Given the description of an element on the screen output the (x, y) to click on. 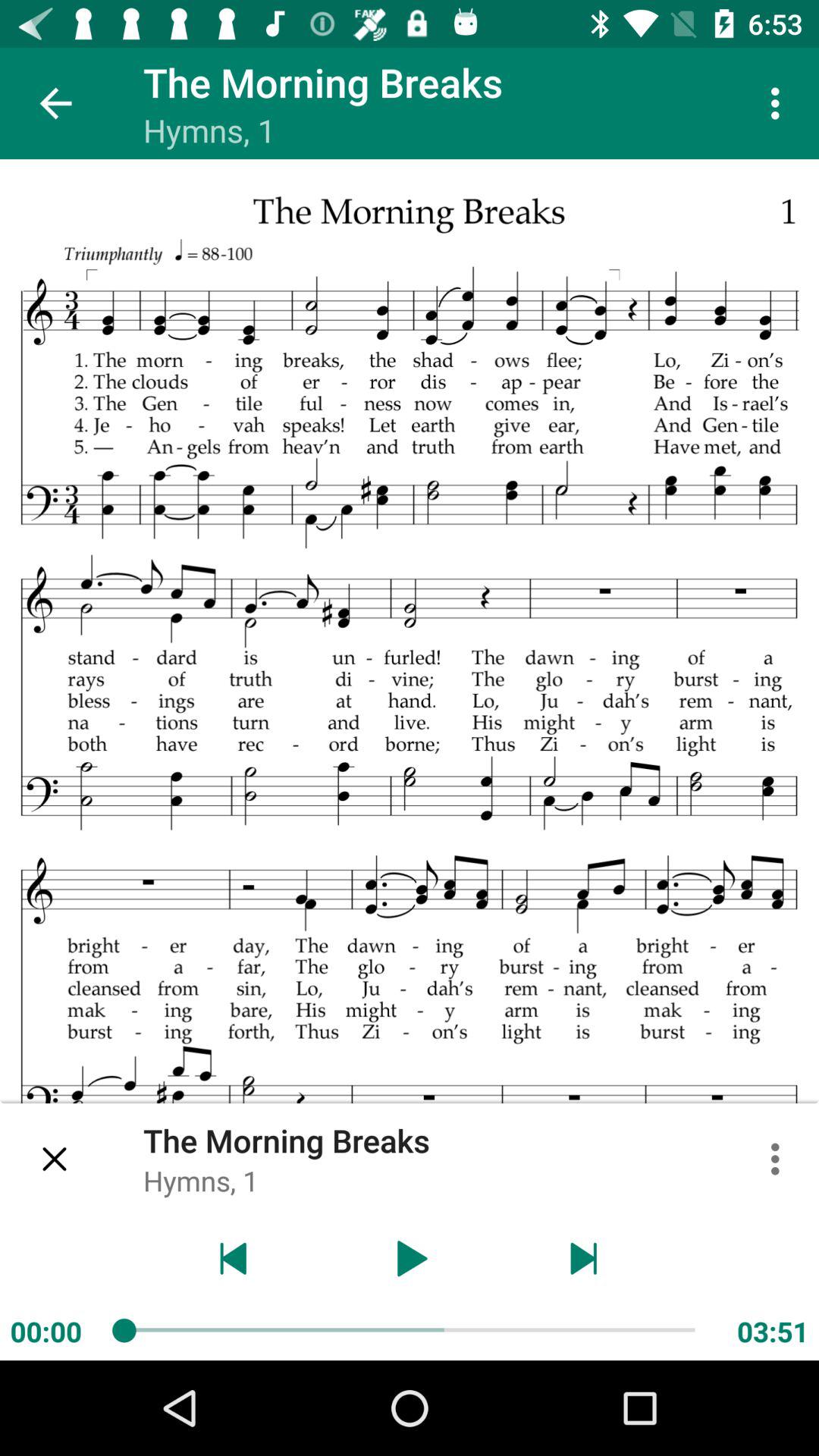
play button (409, 1258)
